Given the description of an element on the screen output the (x, y) to click on. 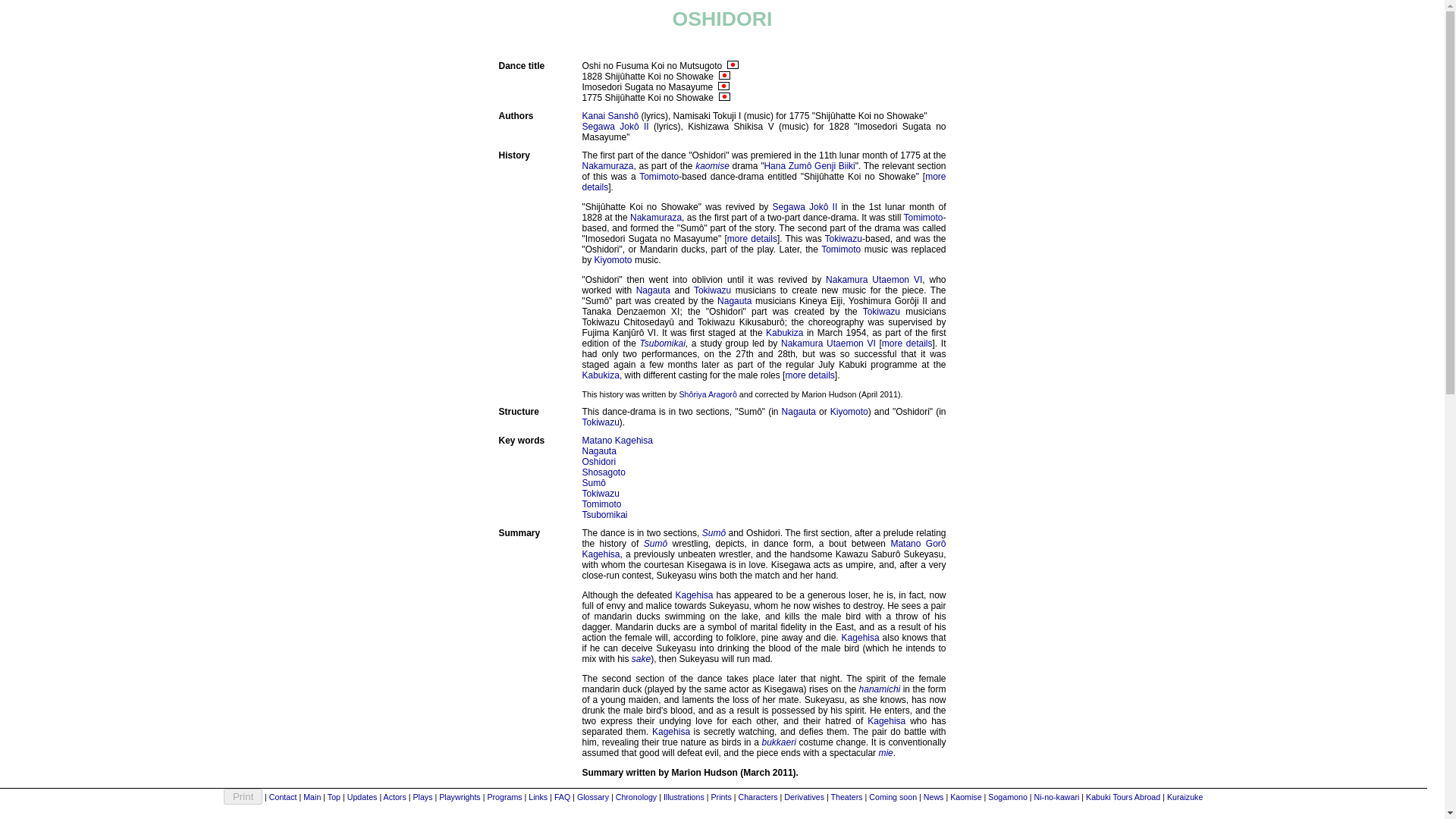
Derivatives (804, 796)
Programs (503, 796)
more details (751, 238)
Glossary (592, 796)
Nakamuraza (655, 217)
Nakamuraza (607, 165)
Kaomise (965, 796)
Contact (283, 796)
News (933, 796)
 Print  (243, 796)
